Given the description of an element on the screen output the (x, y) to click on. 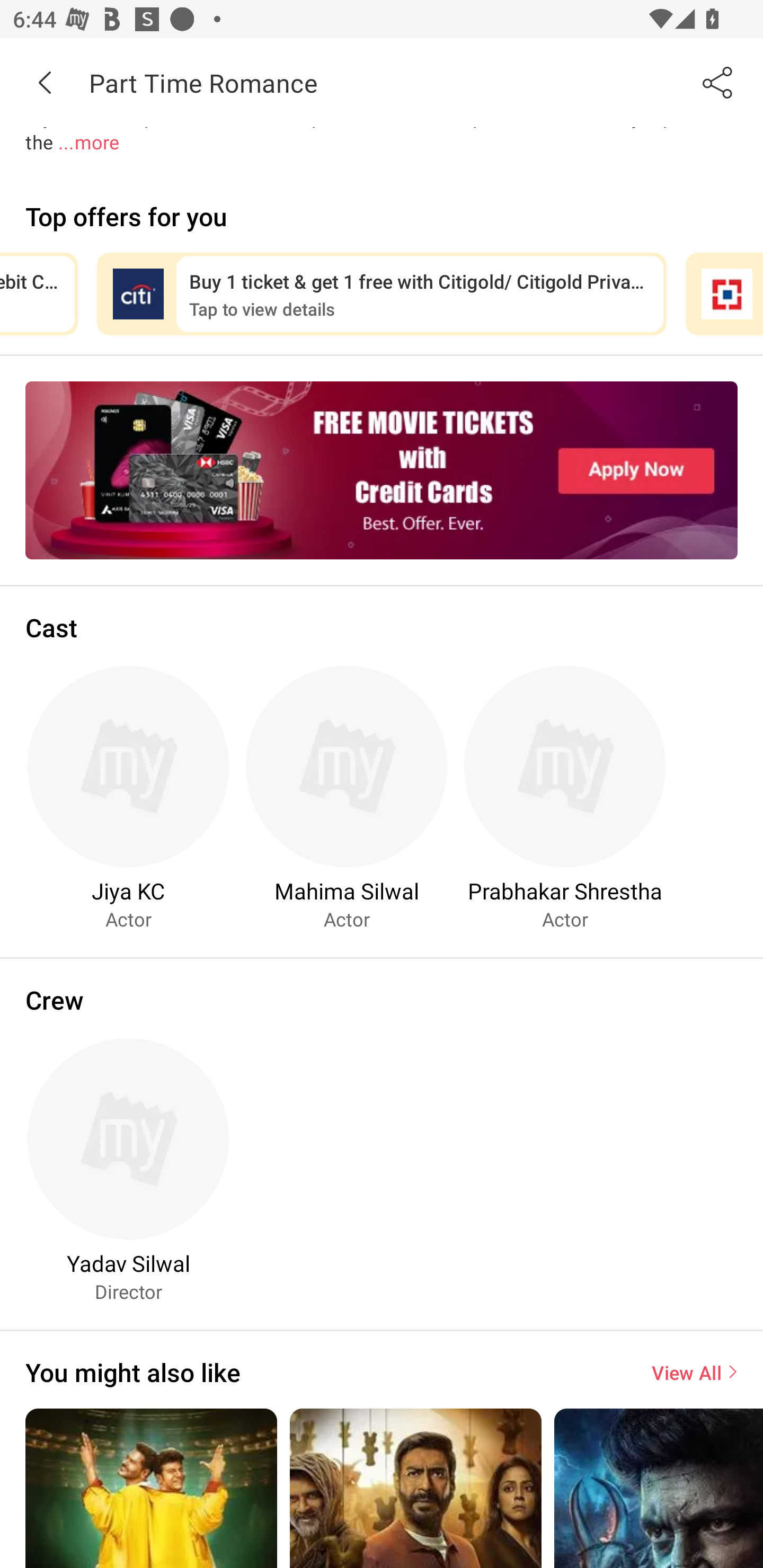
Back (44, 82)
Share (718, 82)
Jiya KC Actor (128, 797)
Mahima Silwal Actor (346, 797)
Prabhakar Shrestha Actor (564, 797)
Yadav Silwal Director (128, 1170)
View All (694, 1371)
